Given the description of an element on the screen output the (x, y) to click on. 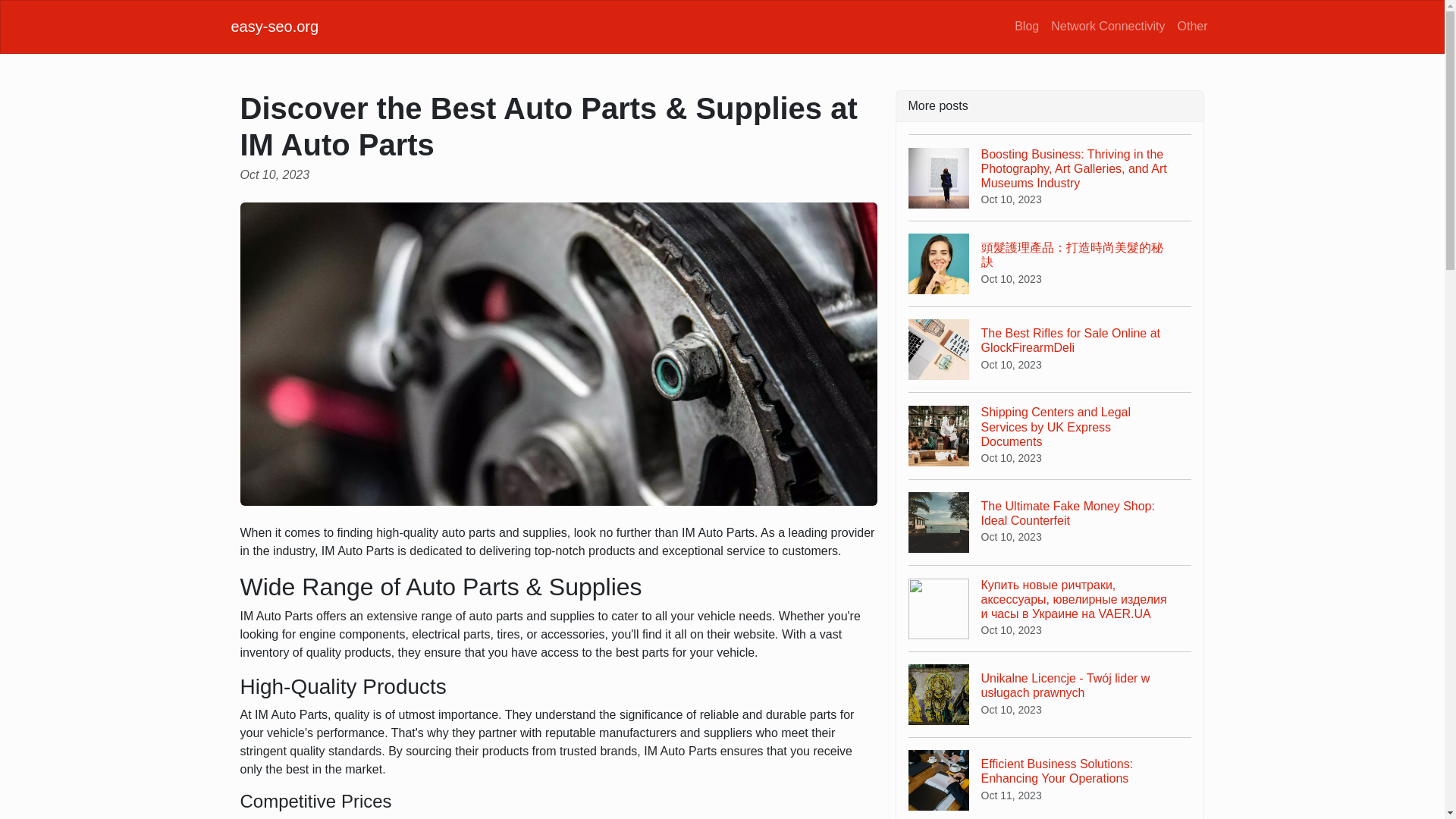
easy-seo.org (274, 26)
Blog (1050, 522)
Other (1027, 26)
Network Connectivity (1191, 26)
